Given the description of an element on the screen output the (x, y) to click on. 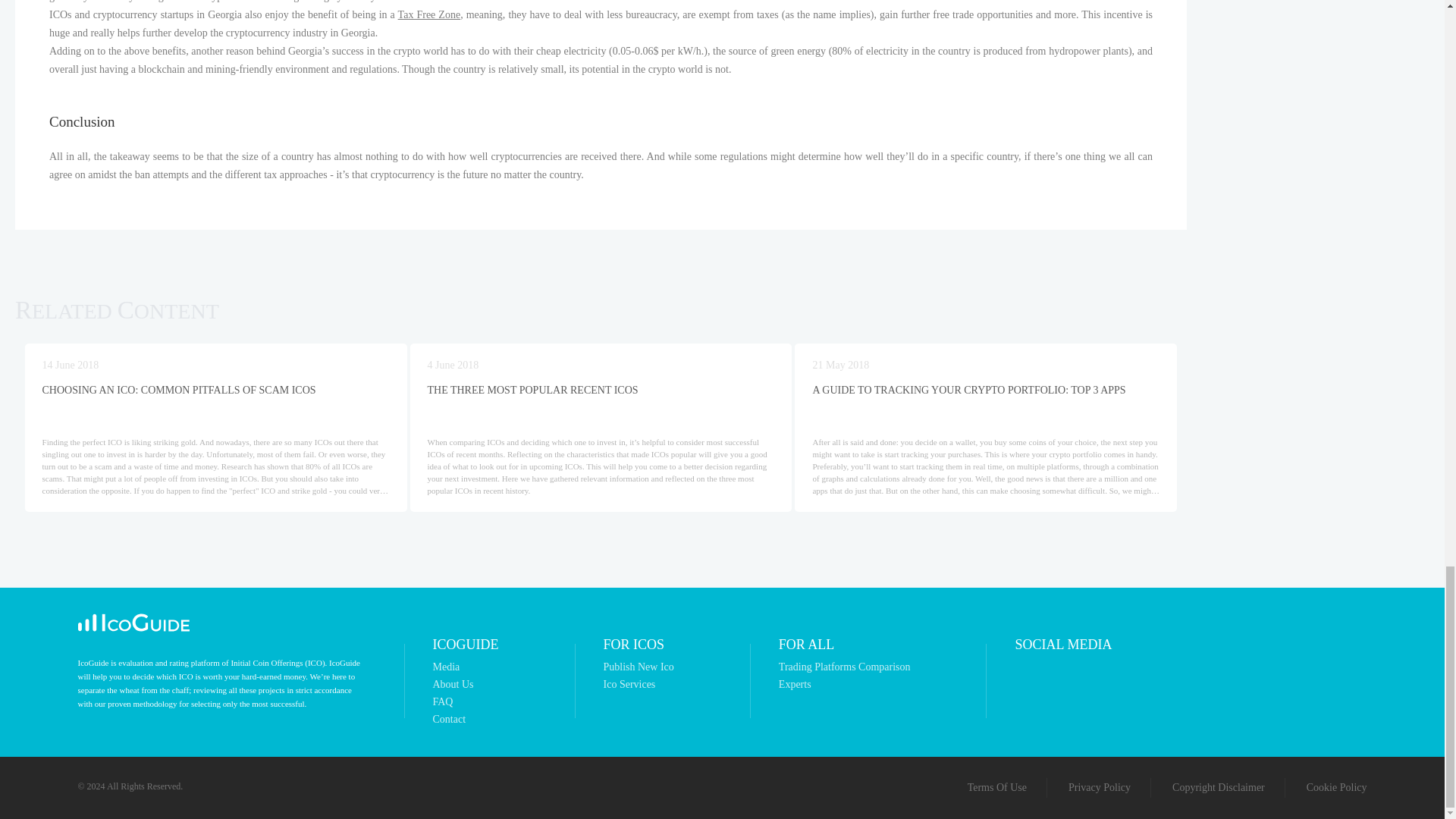
Ico Services (639, 684)
THE THREE MOST POPULAR RECENT ICOS (600, 395)
Terms Of Use (997, 787)
Trading Platforms Comparison (844, 666)
A GUIDE TO TRACKING YOUR CRYPTO PORTFOLIO: TOP 3 APPS (985, 395)
CHOOSING AN ICO: COMMON PITFALLS OF SCAM ICOS (215, 395)
Tax Free Zone (429, 14)
FAQ (464, 701)
Publish New Ico (639, 666)
Copyright Disclaimer (1218, 787)
Experts (844, 684)
Privacy Policy (1099, 787)
Contact (464, 719)
About Us (464, 684)
Cookie Policy (1336, 787)
